Given the description of an element on the screen output the (x, y) to click on. 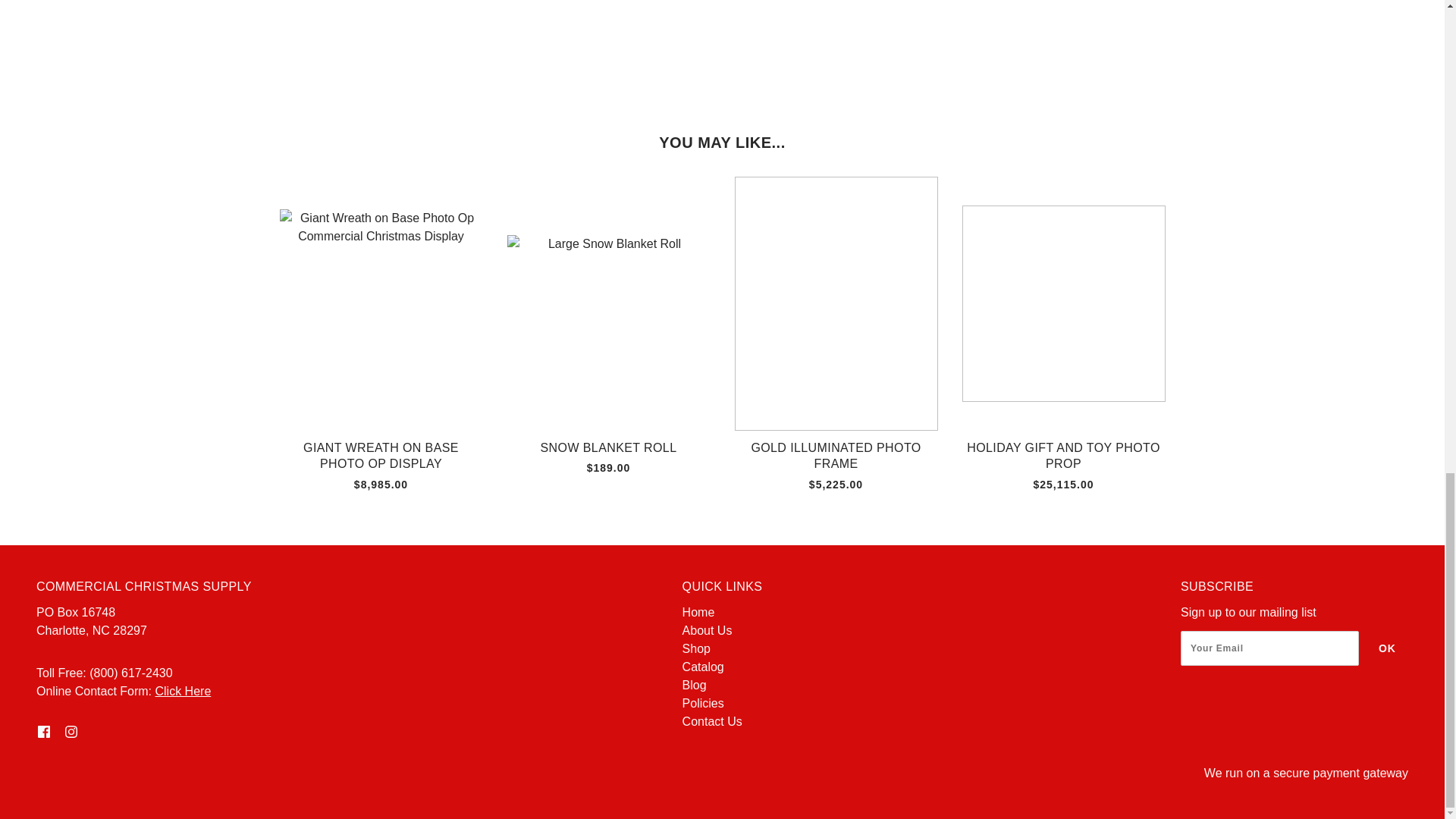
Policies (702, 703)
Ok (1387, 648)
Home (698, 612)
About Us (707, 630)
Contact  Us (712, 721)
Shop (696, 648)
Blog (694, 684)
Catalog (702, 666)
